Given the description of an element on the screen output the (x, y) to click on. 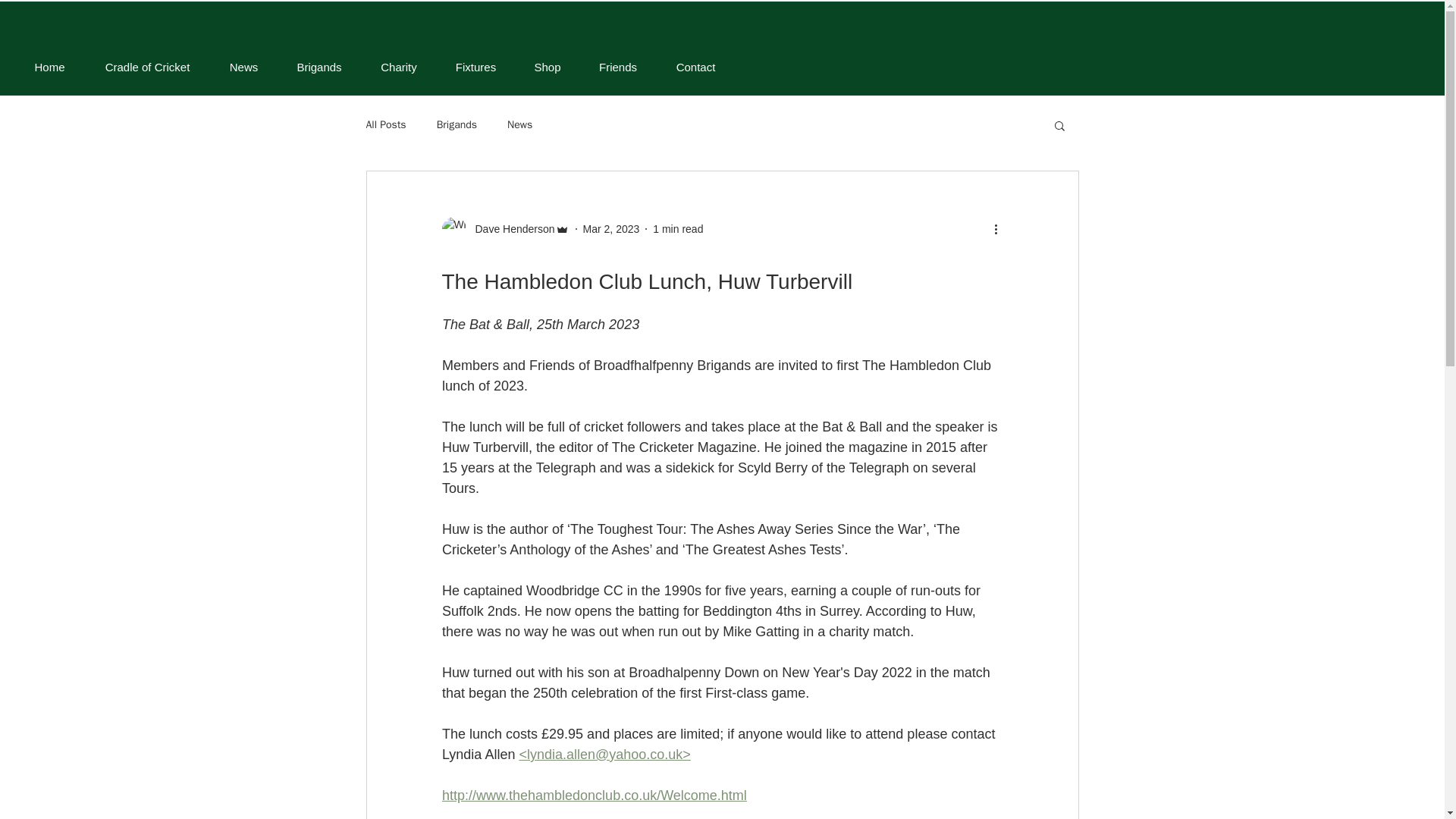
Shop (547, 66)
All Posts (385, 124)
Friends (617, 66)
1 min read (677, 228)
Cradle of Cricket (146, 66)
Fixtures (475, 66)
Contact (695, 66)
News (243, 66)
Charity (398, 66)
Mar 2, 2023 (611, 228)
